Given the description of an element on the screen output the (x, y) to click on. 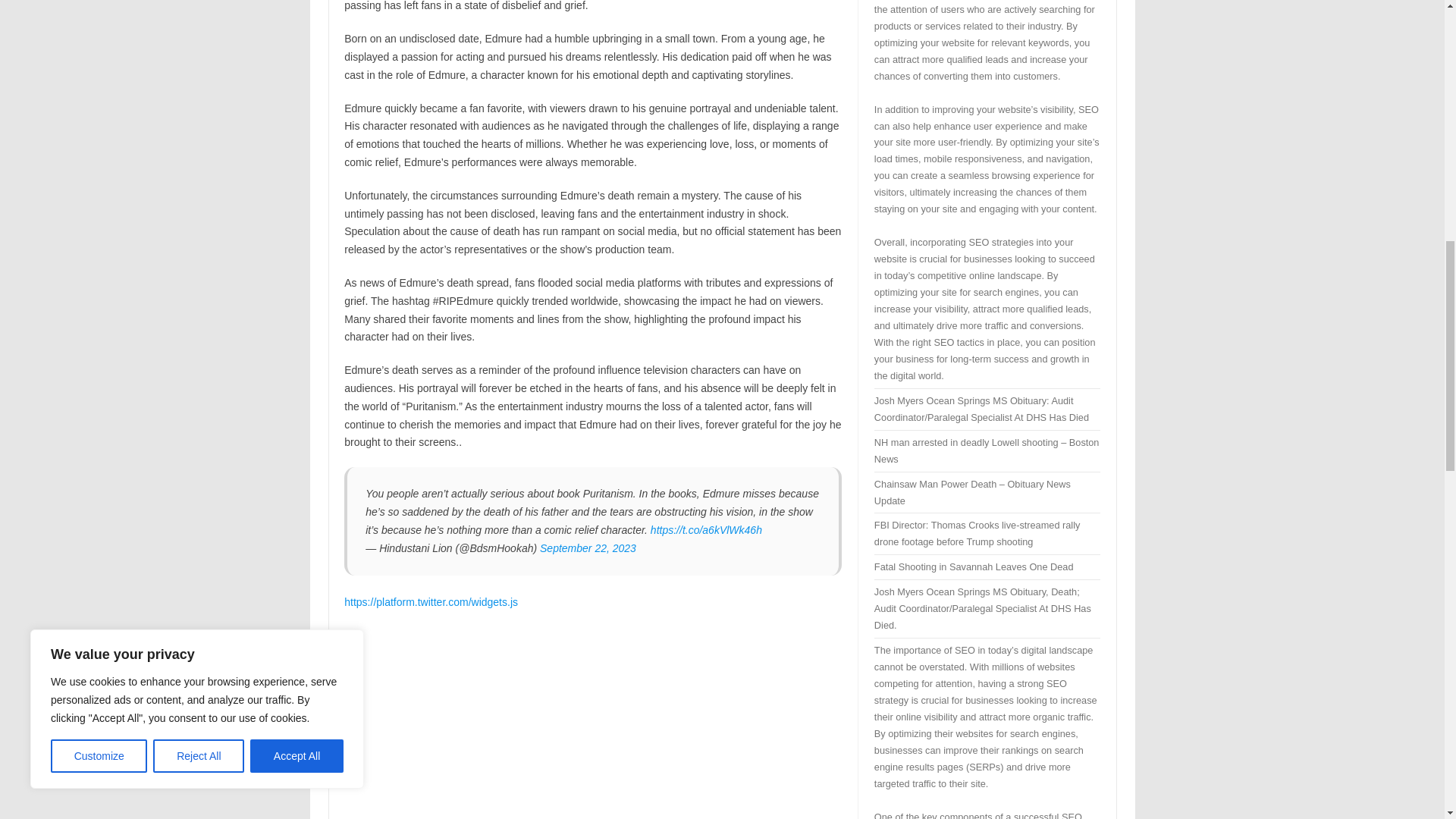
YouTube video player (555, 723)
September 22, 2023 (588, 548)
